Given the description of an element on the screen output the (x, y) to click on. 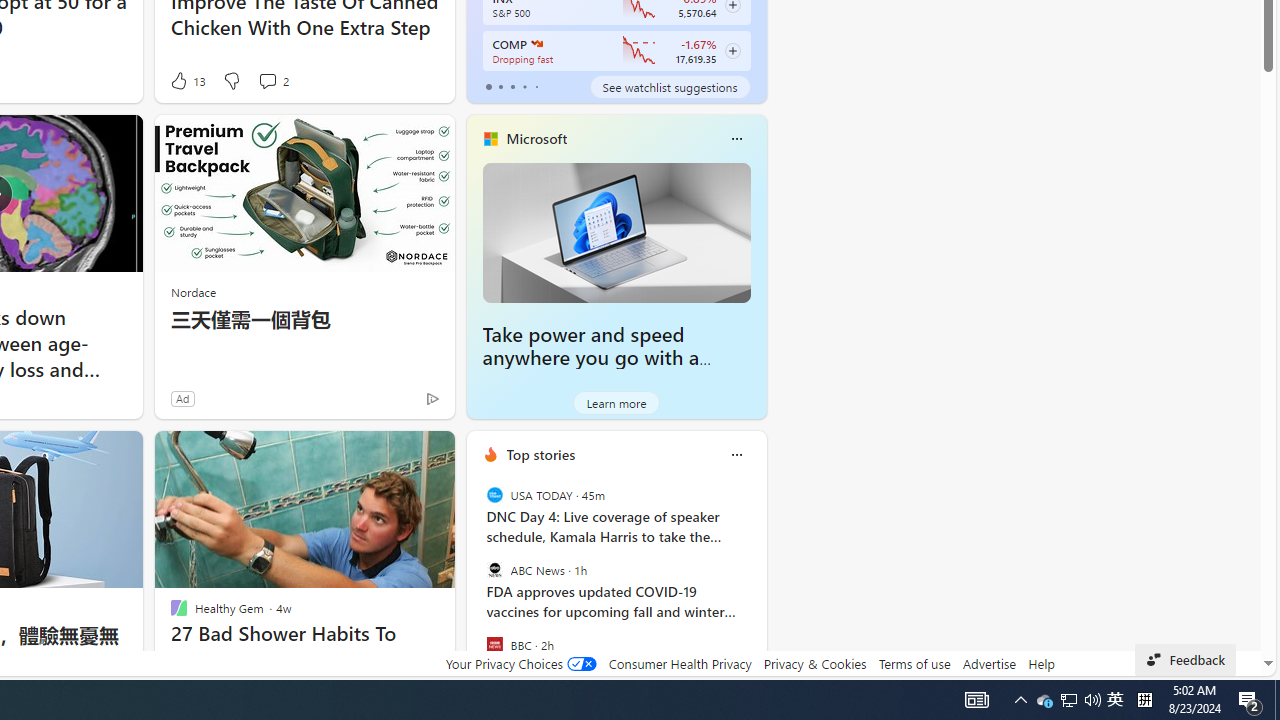
tab-4 (535, 86)
13 Like (186, 80)
Take power and speed anywhere you go with a Windows laptop. (591, 357)
ABC News (494, 570)
tab-2 (511, 86)
NASDAQ (535, 43)
